Given the description of an element on the screen output the (x, y) to click on. 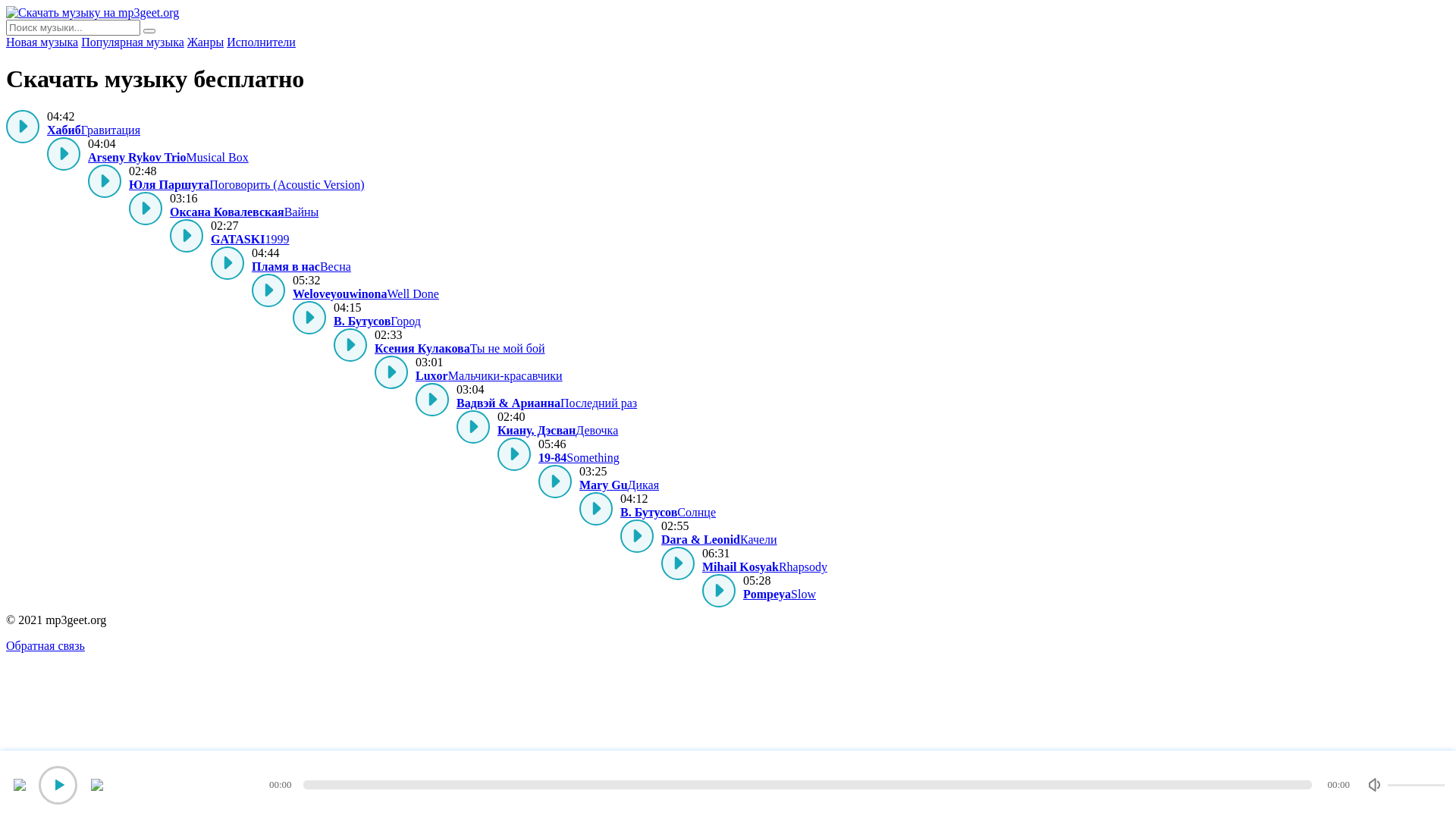
PompeyaSlow Element type: text (779, 593)
Mihail KosyakRhapsody Element type: text (764, 566)
WeloveyouwinonaWell Done Element type: text (365, 293)
Arseny Rykov TrioMusical Box Element type: text (167, 156)
GATASKI1999 Element type: text (249, 238)
19-84Something Element type: text (578, 457)
